Given the description of an element on the screen output the (x, y) to click on. 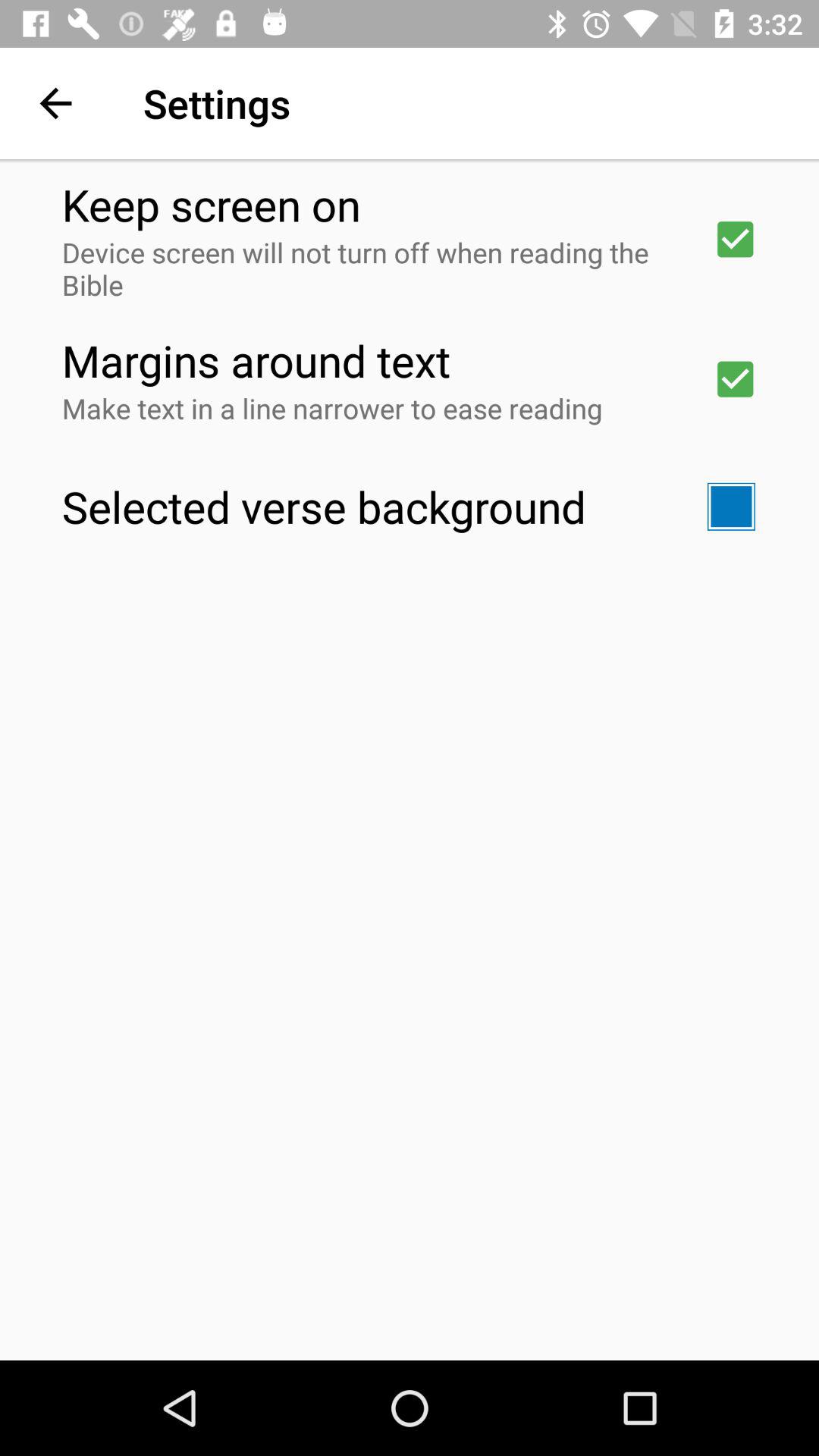
choose the app next to the settings item (55, 103)
